Given the description of an element on the screen output the (x, y) to click on. 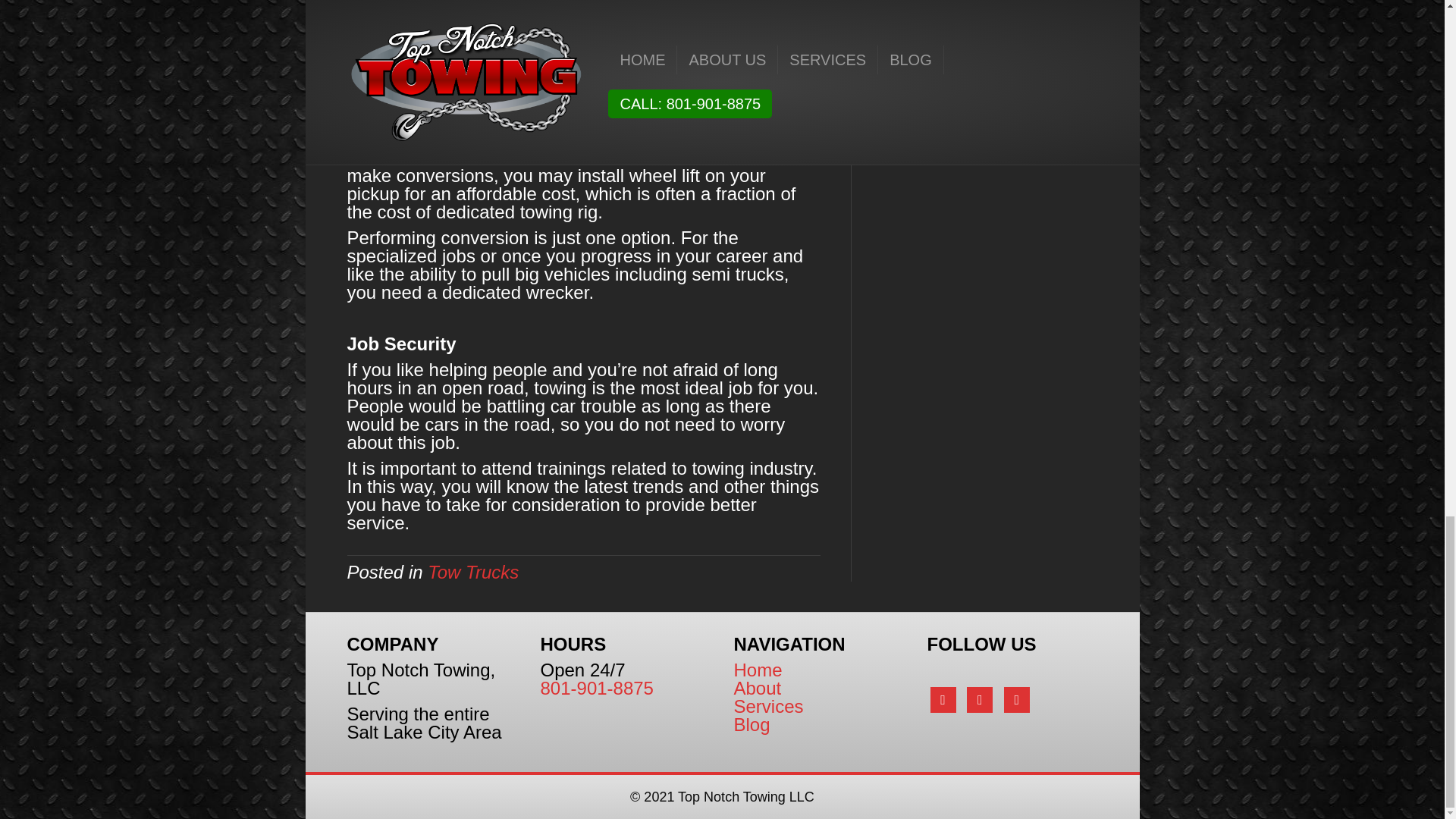
Facebook (942, 697)
801-901-8875 (596, 688)
Home (758, 670)
About (757, 688)
facebook (942, 697)
Tow Trucks (473, 571)
Instagram (1016, 697)
Blog (751, 724)
Services (768, 706)
google (1016, 697)
